Given the description of an element on the screen output the (x, y) to click on. 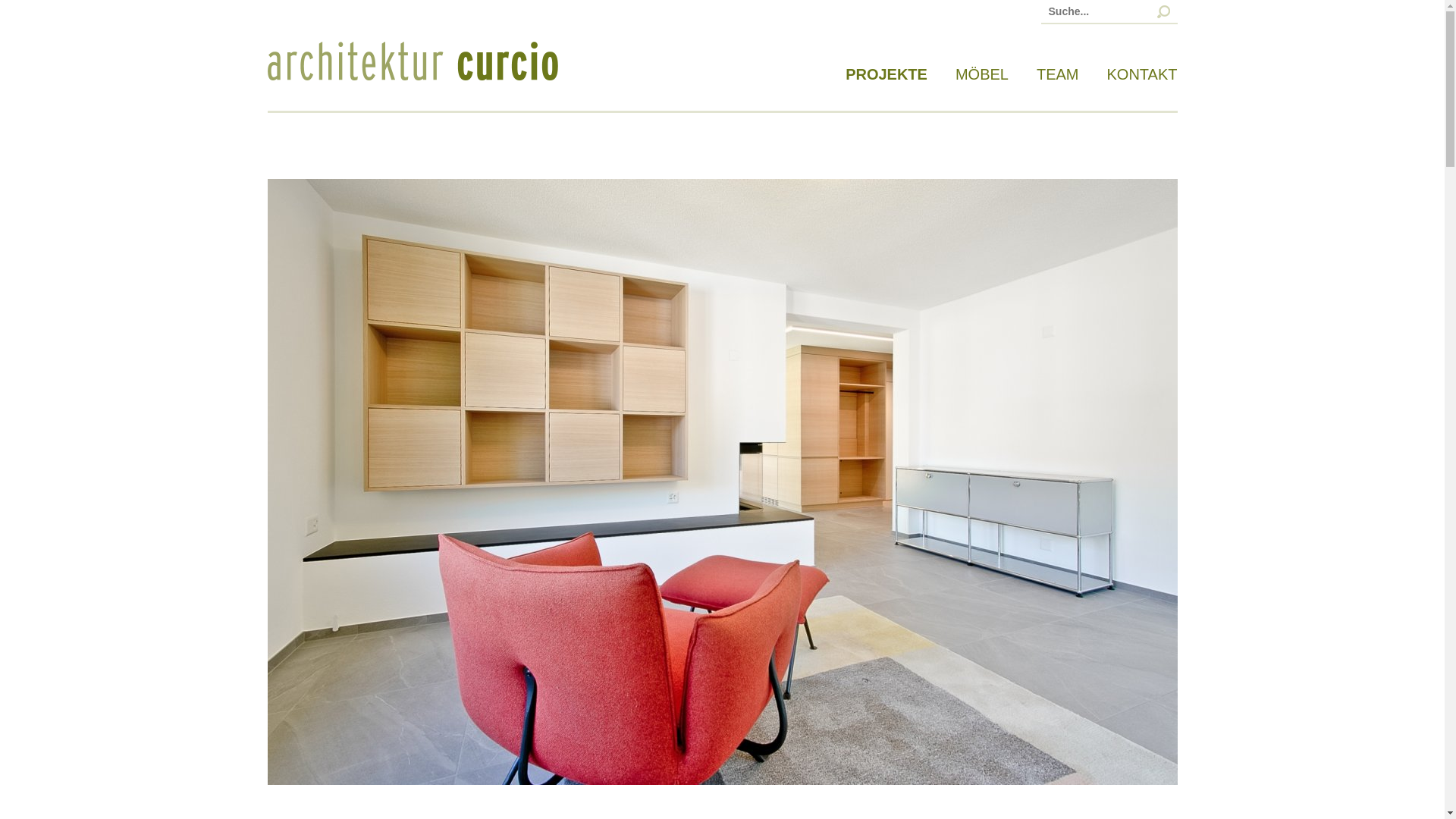
KONTAKT Element type: text (1142, 74)
Suche Element type: text (60, 12)
PROJEKTE Element type: text (886, 74)
TEAM Element type: text (1057, 74)
